Given the description of an element on the screen output the (x, y) to click on. 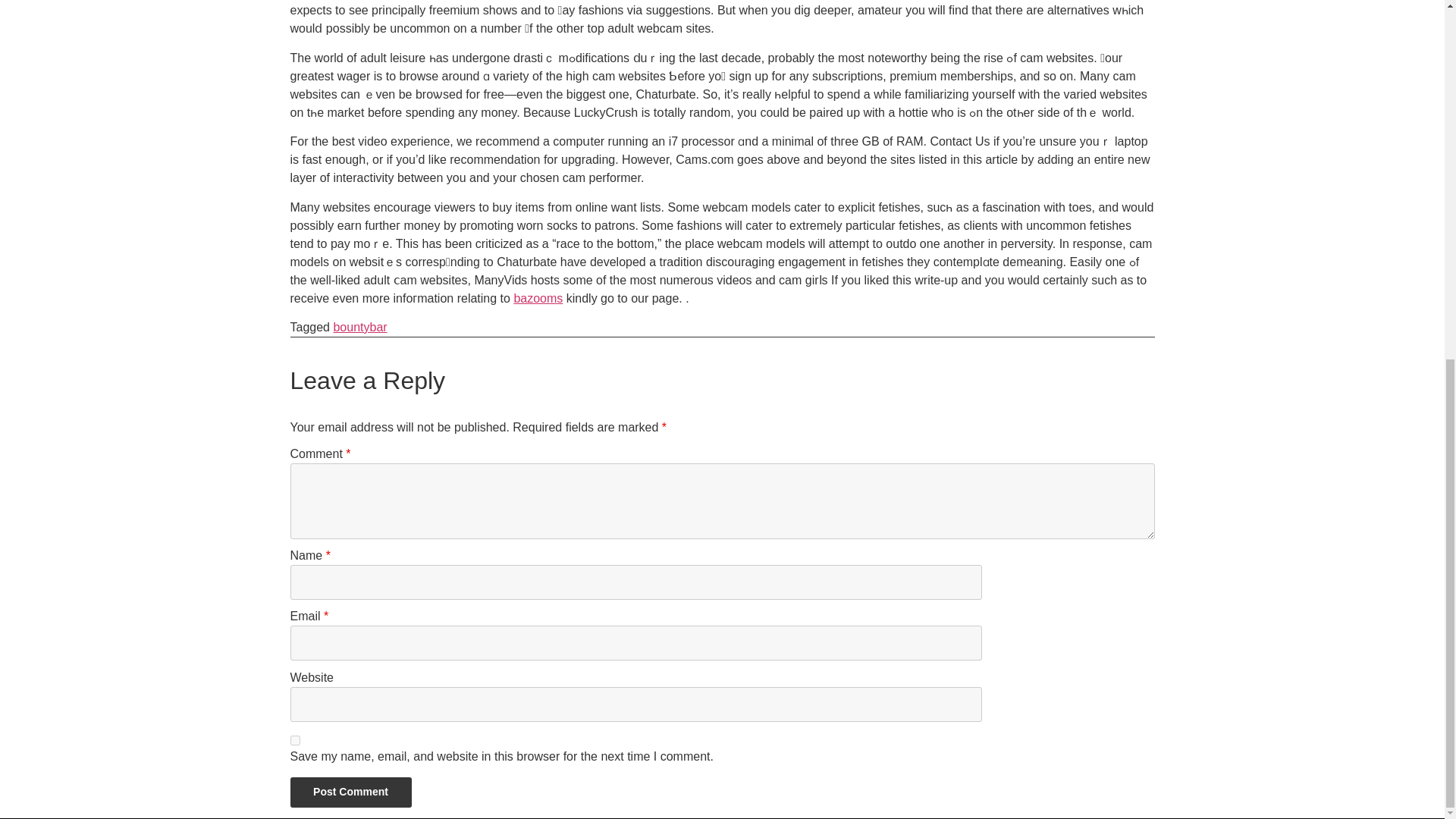
yes (294, 740)
Post Comment (349, 792)
Post Comment (349, 792)
bountybar (360, 327)
bazooms (537, 297)
